Given the description of an element on the screen output the (x, y) to click on. 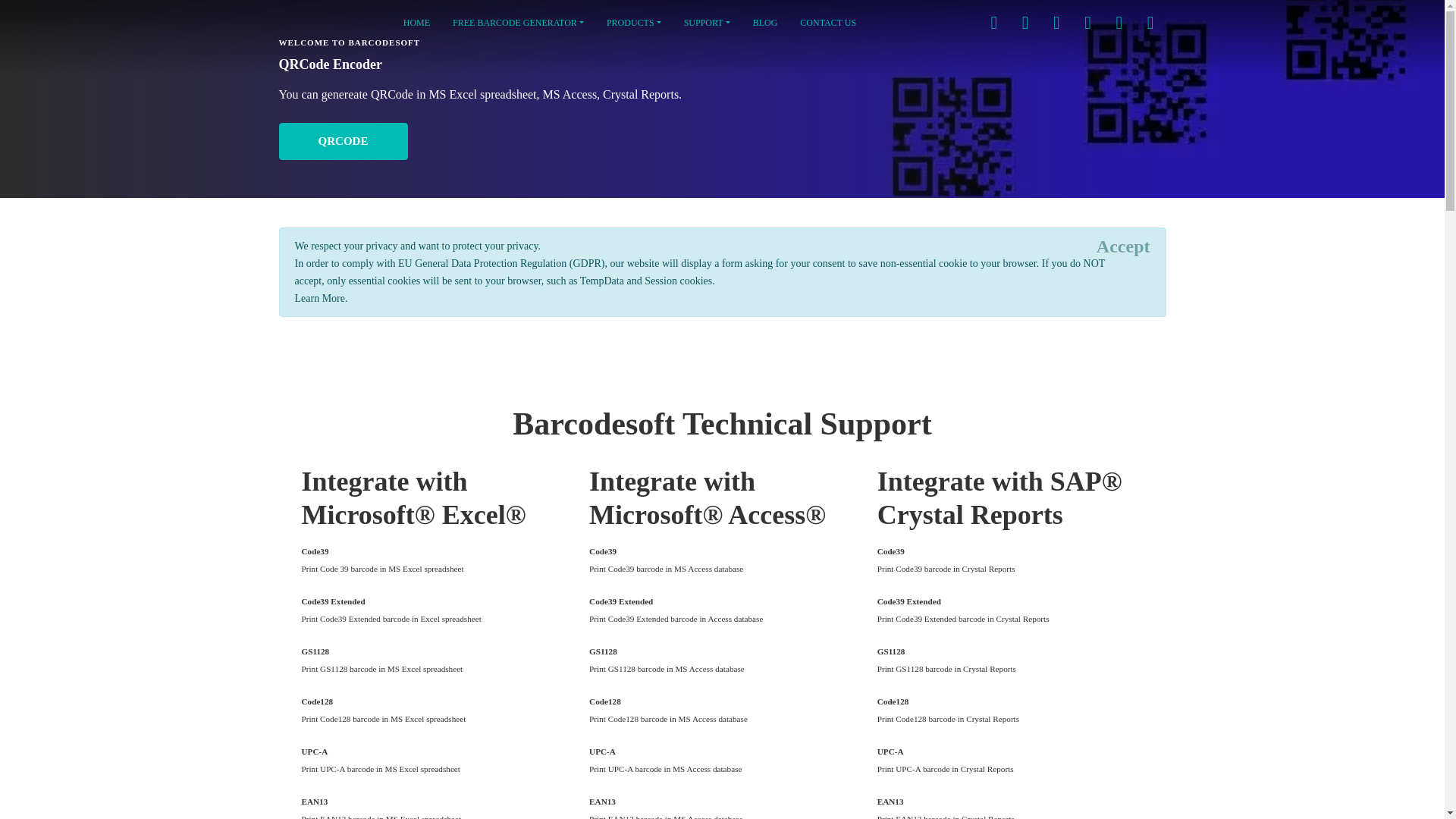
English (993, 22)
Deutsche (1087, 22)
HOME (416, 22)
FREE BARCODE GENERATOR (518, 22)
PRODUCTS (633, 22)
